Given the description of an element on the screen output the (x, y) to click on. 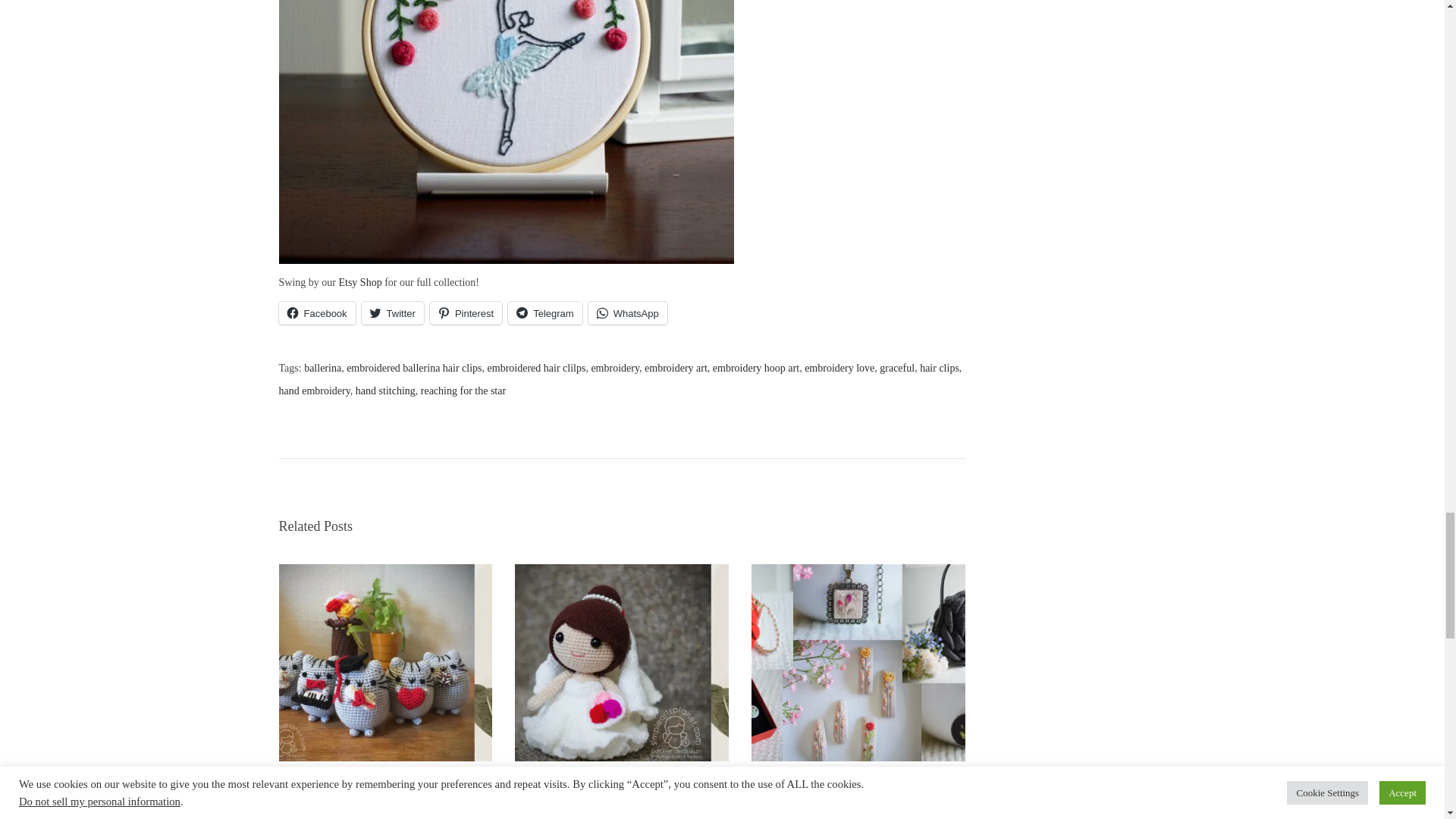
LisMakes on Etsy (359, 282)
Click to share on Twitter (392, 313)
Click to share on Facebook (317, 313)
Click to share on Pinterest (465, 313)
Click to share on WhatsApp (627, 313)
Click to share on Telegram (544, 313)
